Given the description of an element on the screen output the (x, y) to click on. 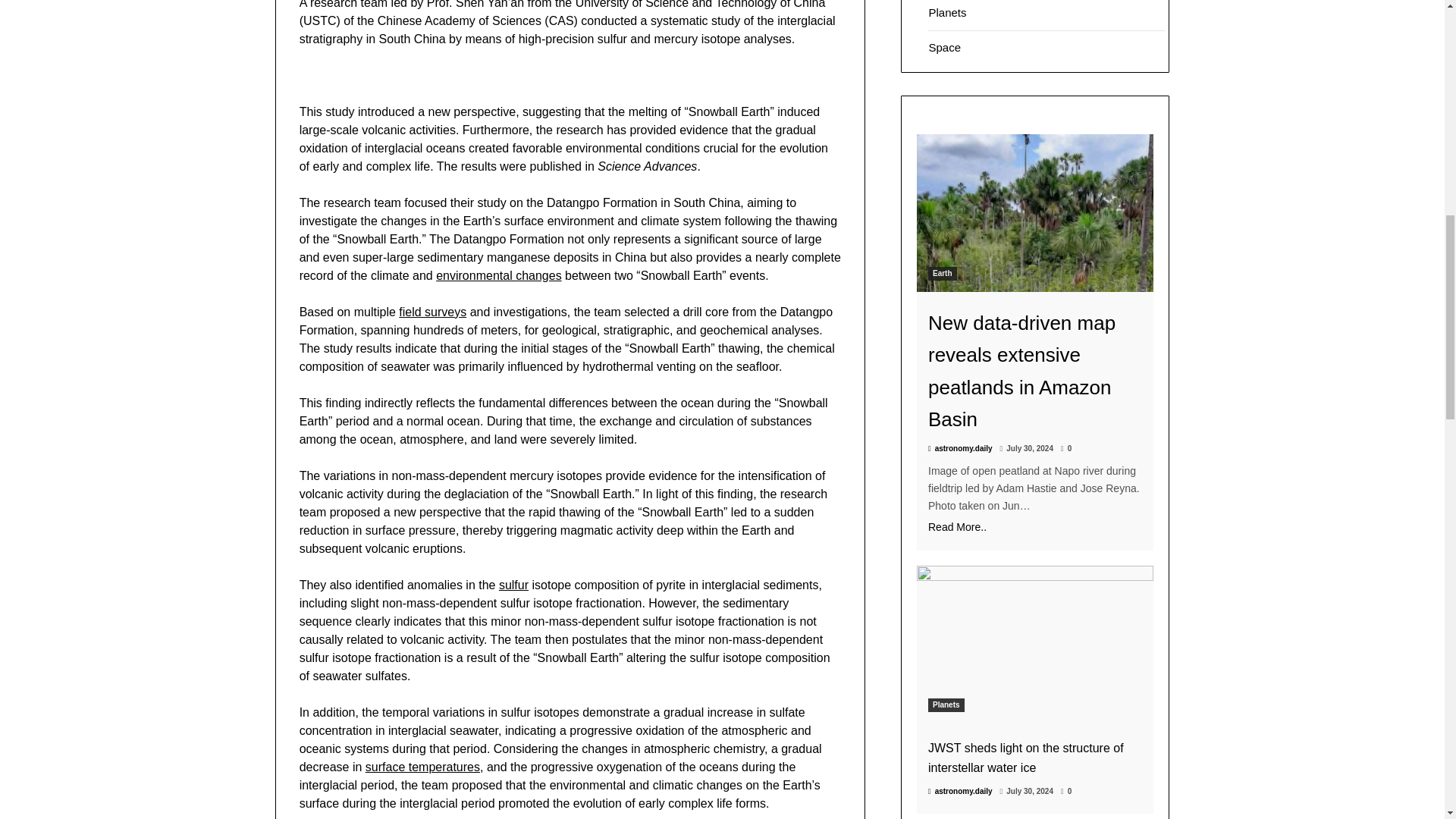
Read More.. (1034, 527)
sulfur (513, 584)
field surveys (431, 310)
Planets (947, 11)
environmental changes (497, 274)
astronomy.daily (960, 448)
surface temperatures (422, 766)
Earth (942, 273)
Space (944, 47)
